Given the description of an element on the screen output the (x, y) to click on. 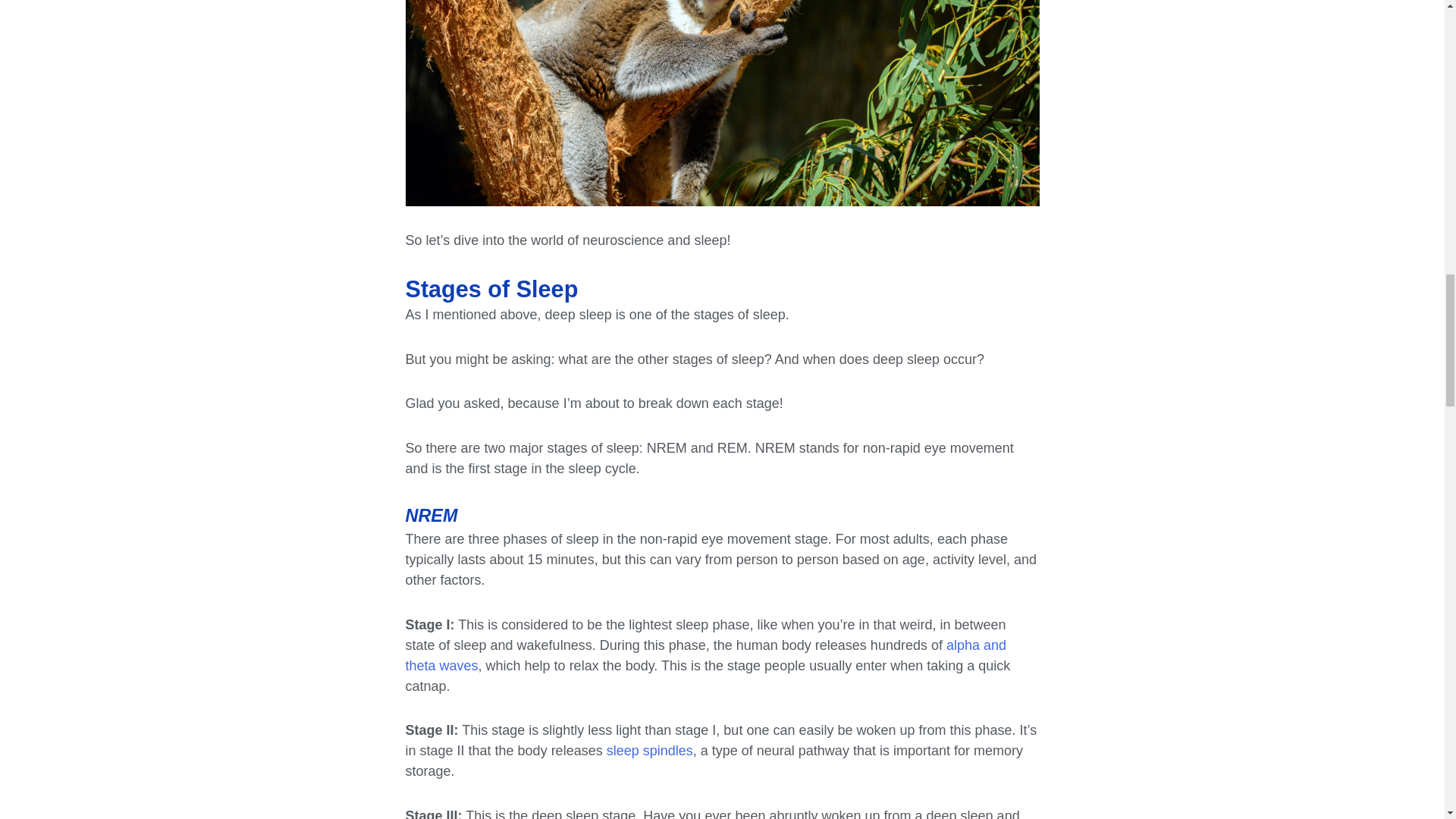
alpha and theta waves (705, 655)
sleep spindles (650, 750)
